Given the description of an element on the screen output the (x, y) to click on. 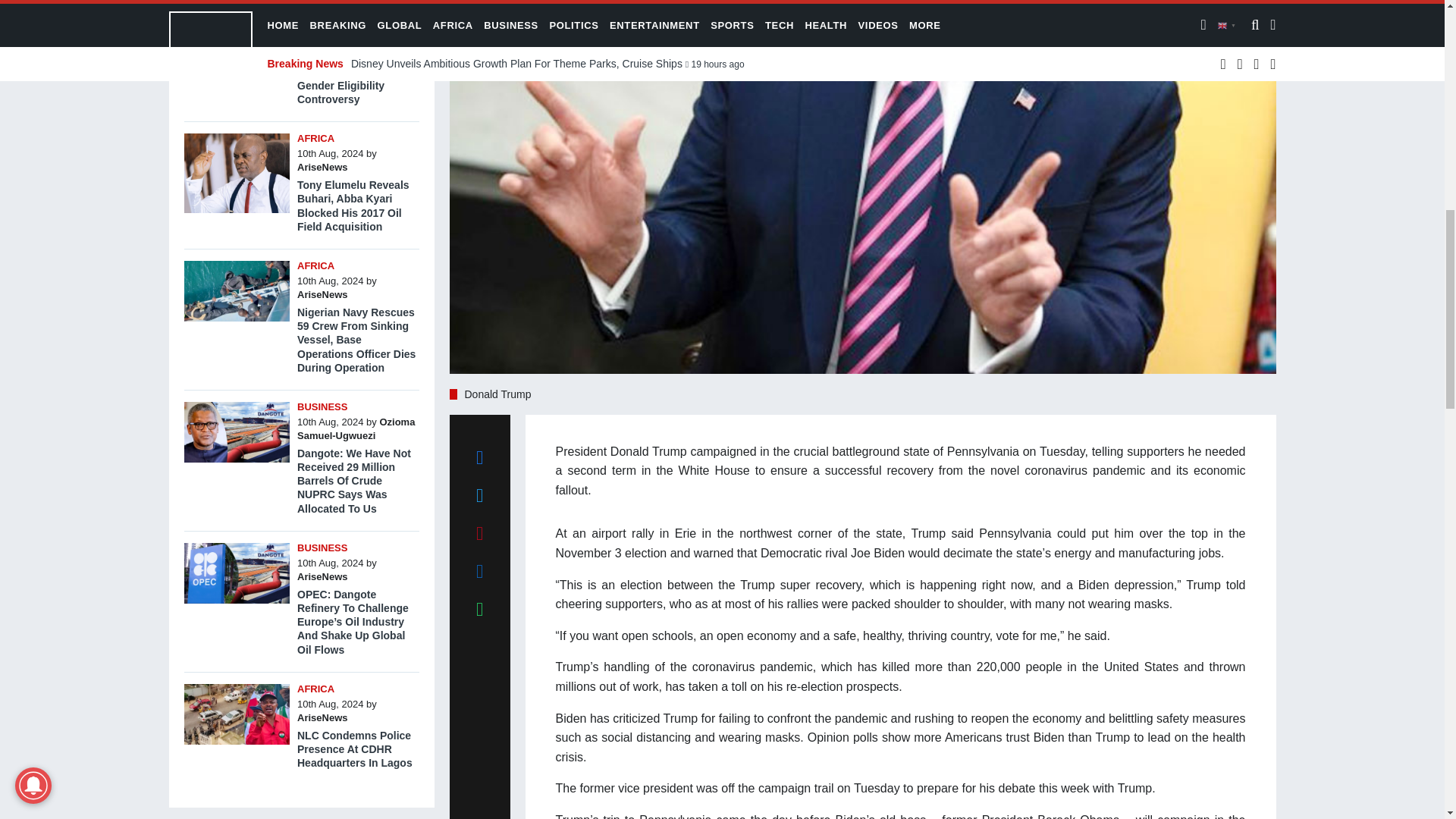
Posts by AriseNews (322, 166)
AriseNews (322, 166)
Ozioma Samuel-Ugwuezi (355, 428)
AriseNews (322, 294)
Posts by AriseNews (322, 39)
AFRICA (315, 265)
BREAKING (323, 10)
